Given the description of an element on the screen output the (x, y) to click on. 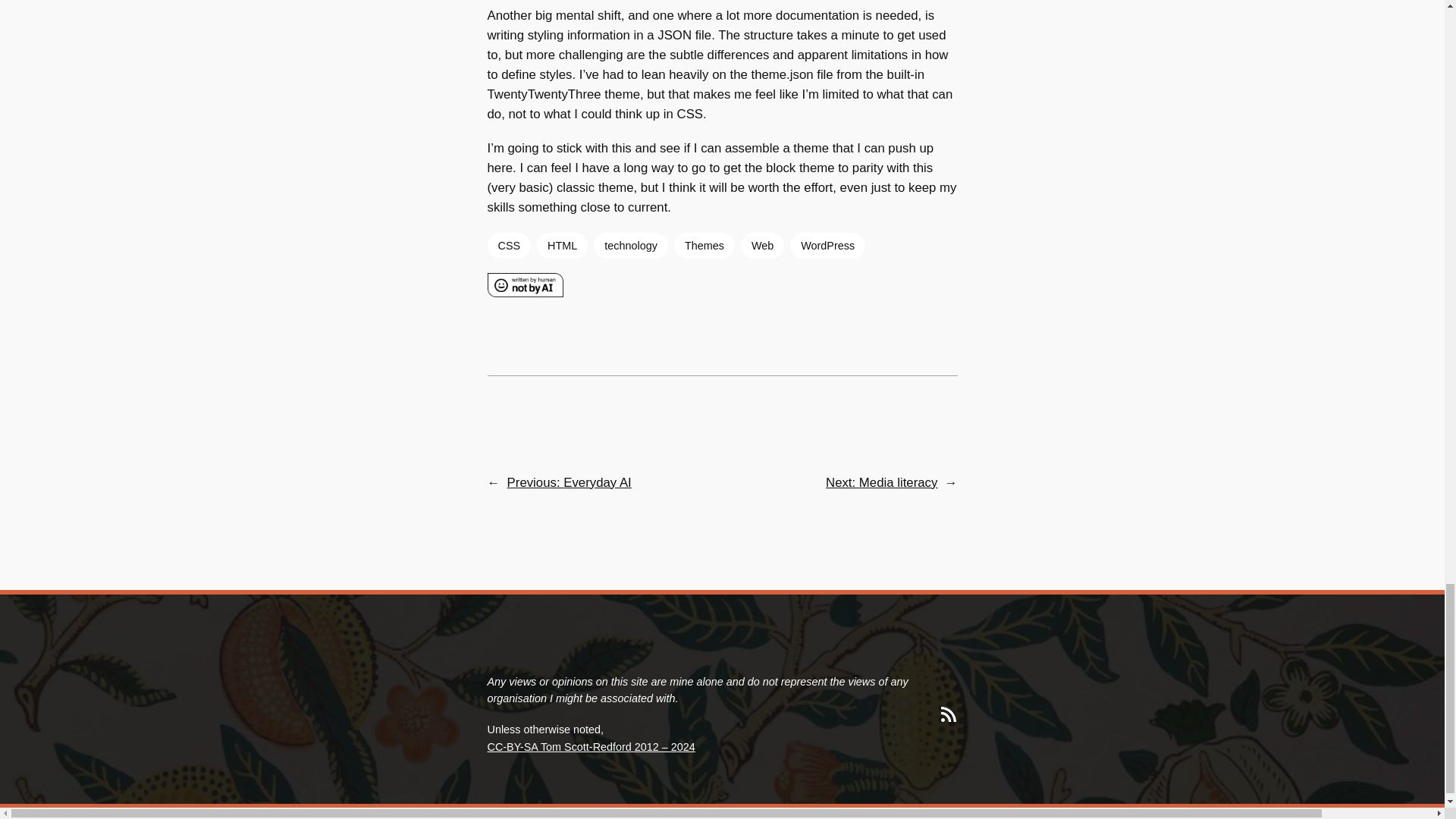
RSS Feed (947, 714)
Themes (704, 245)
Next: Media literacy (881, 482)
HTML (562, 245)
technology (631, 245)
CSS (508, 245)
Web (762, 245)
Previous: Everyday AI (568, 482)
WordPress (827, 245)
